Given the description of an element on the screen output the (x, y) to click on. 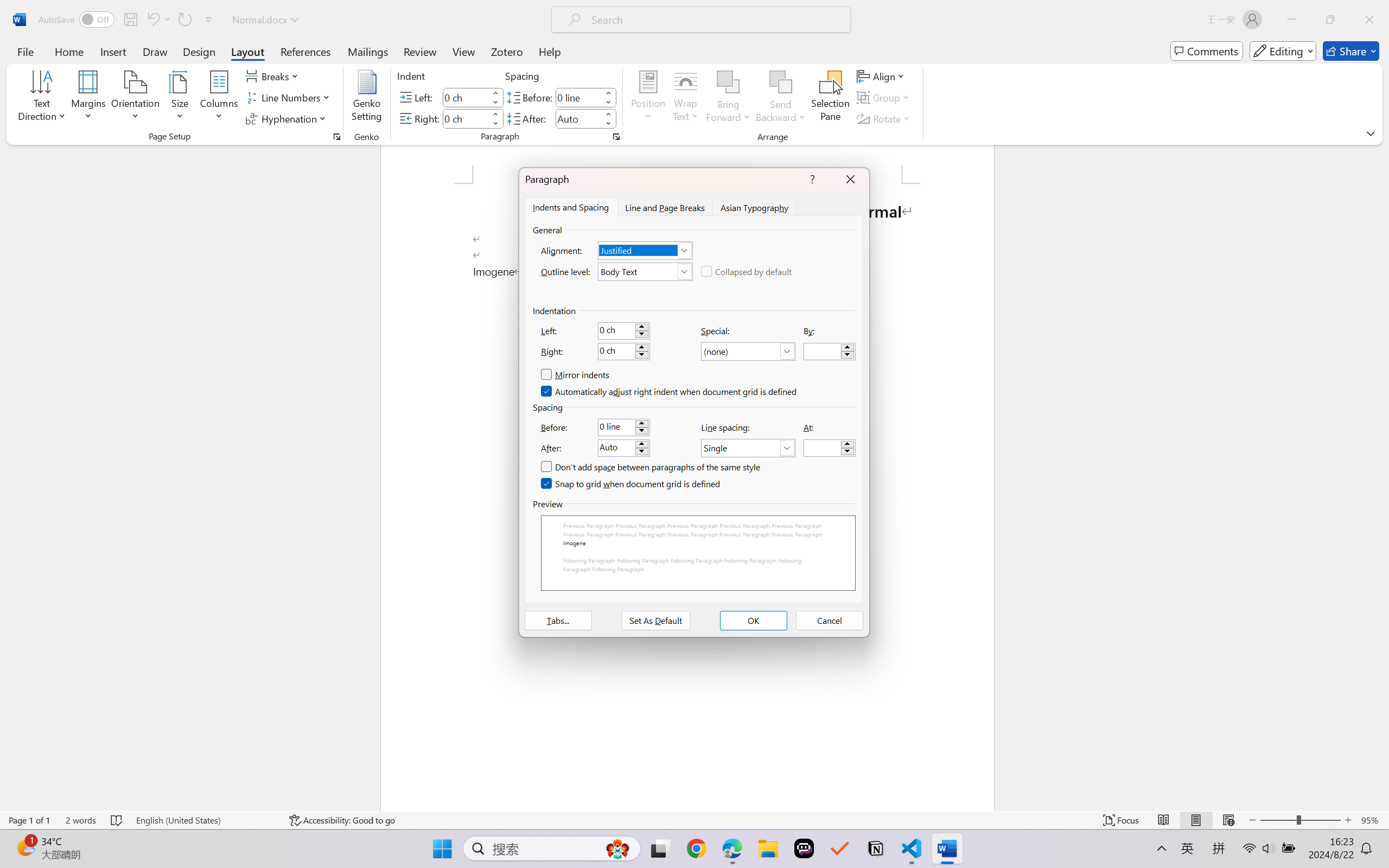
Send Backward (781, 97)
More (608, 113)
Orientation (135, 97)
Genko Setting... (367, 97)
Align (881, 75)
Columns (219, 97)
Wrap Text (685, 97)
